Given the description of an element on the screen output the (x, y) to click on. 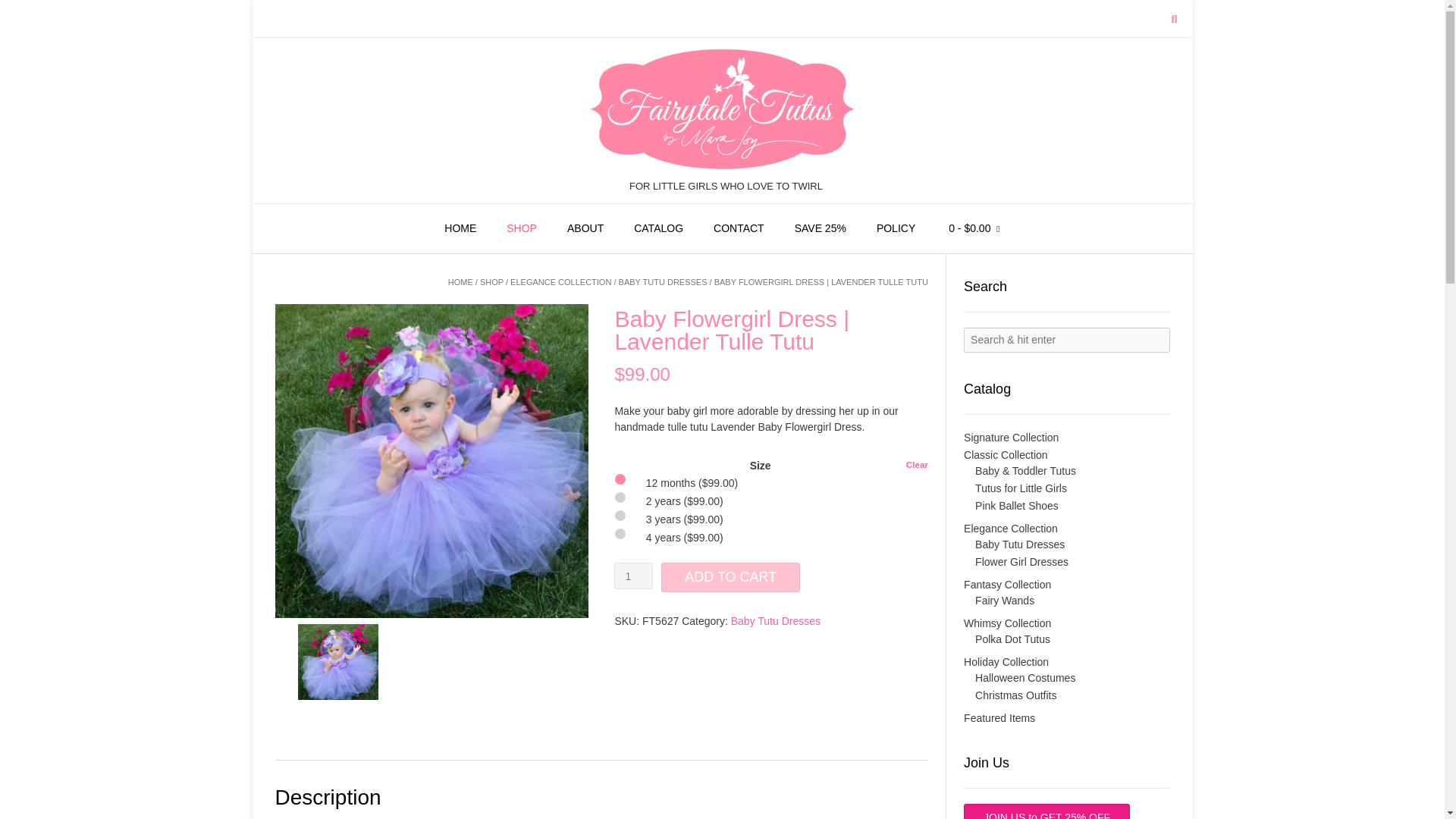
View your shopping cart (973, 228)
POLICY (895, 228)
on (619, 533)
on (619, 497)
SHOP (491, 281)
CONTACT (738, 228)
1 (633, 575)
on (619, 479)
Signature Collection (1010, 437)
Baby Tutu Dresses (775, 621)
Fairytale Tutus (722, 108)
on (619, 515)
